Given the description of an element on the screen output the (x, y) to click on. 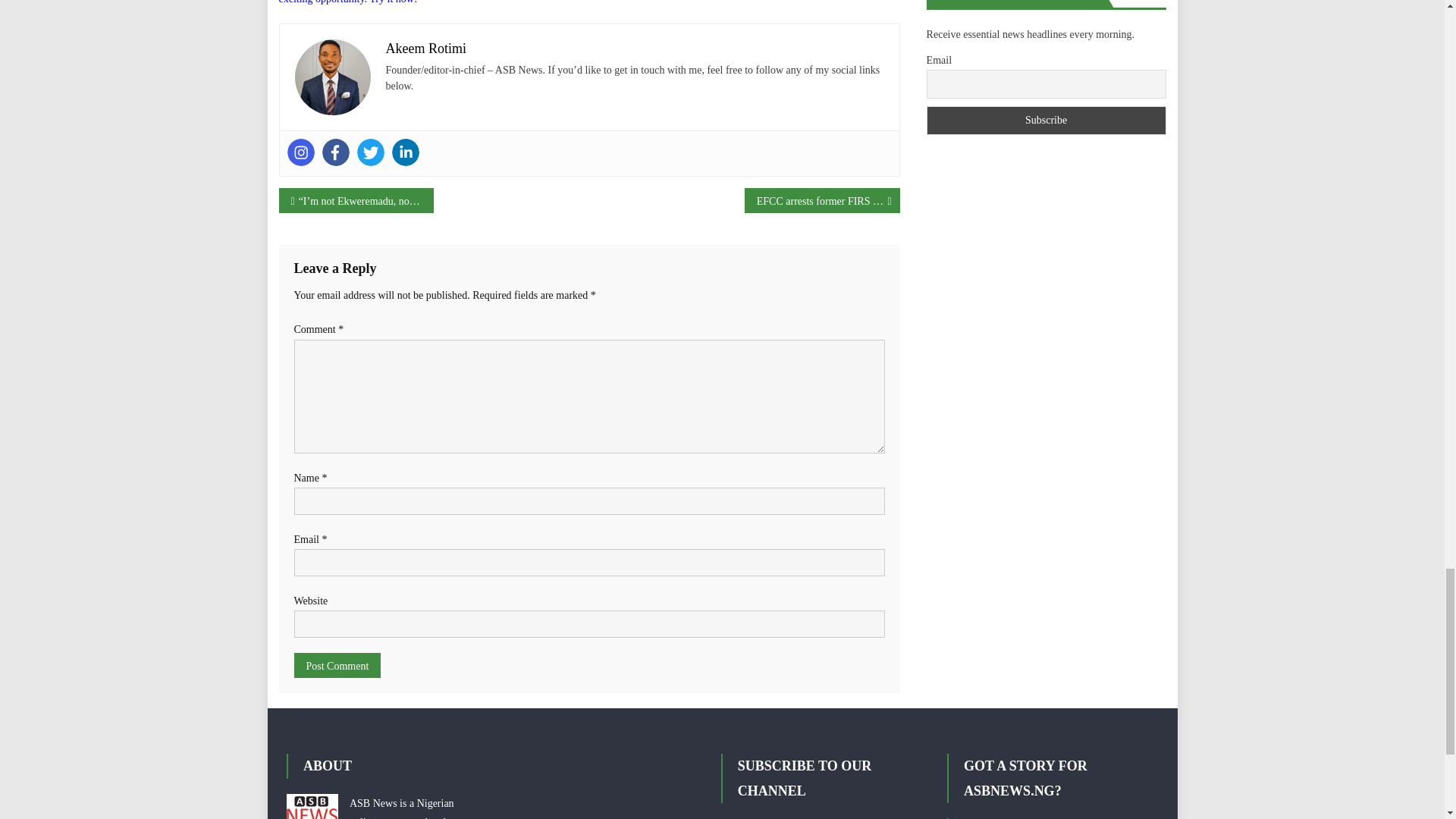
Post Comment (337, 665)
Subscribe (1046, 120)
